Given the description of an element on the screen output the (x, y) to click on. 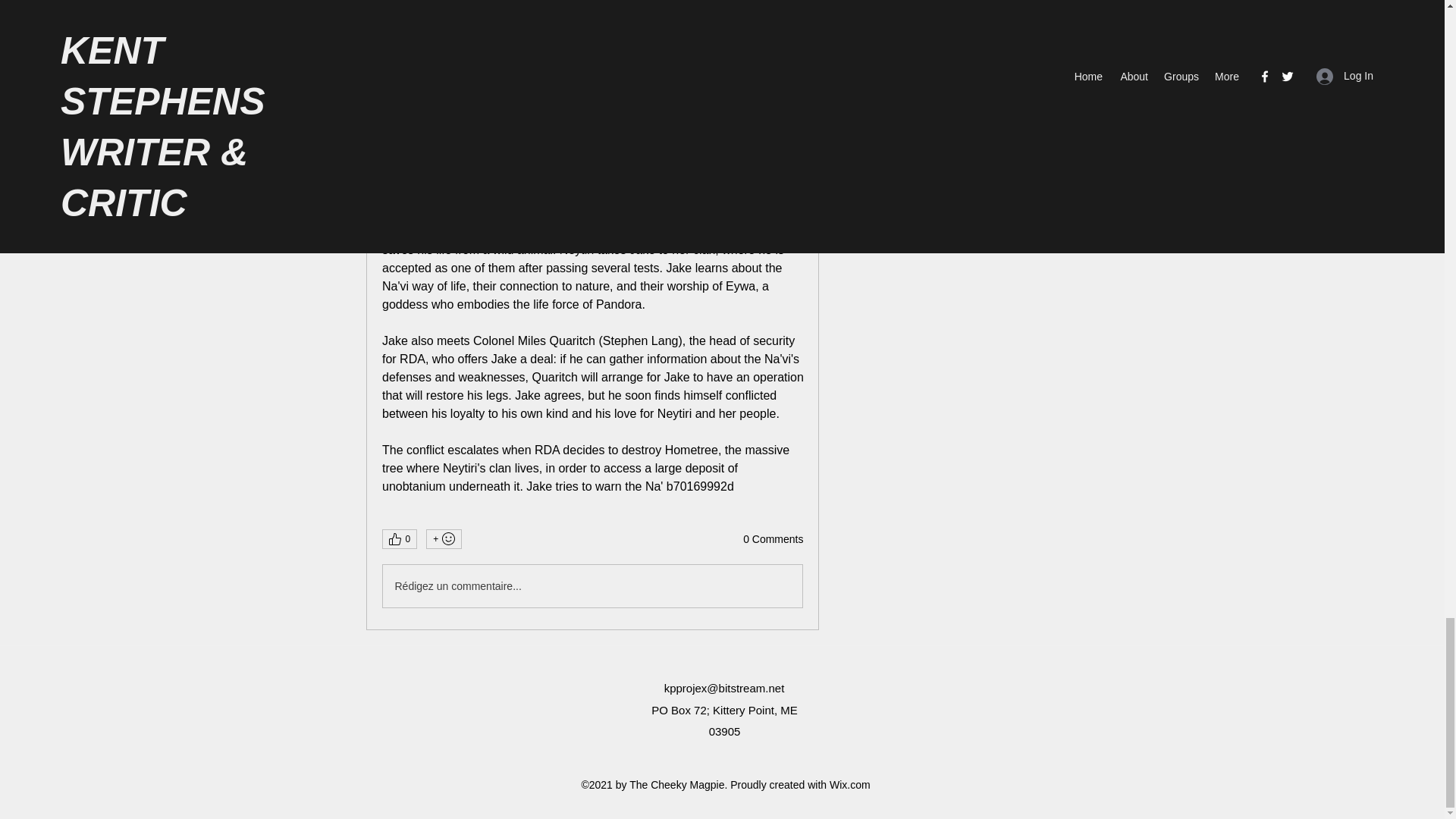
0 Comments (772, 539)
